Given the description of an element on the screen output the (x, y) to click on. 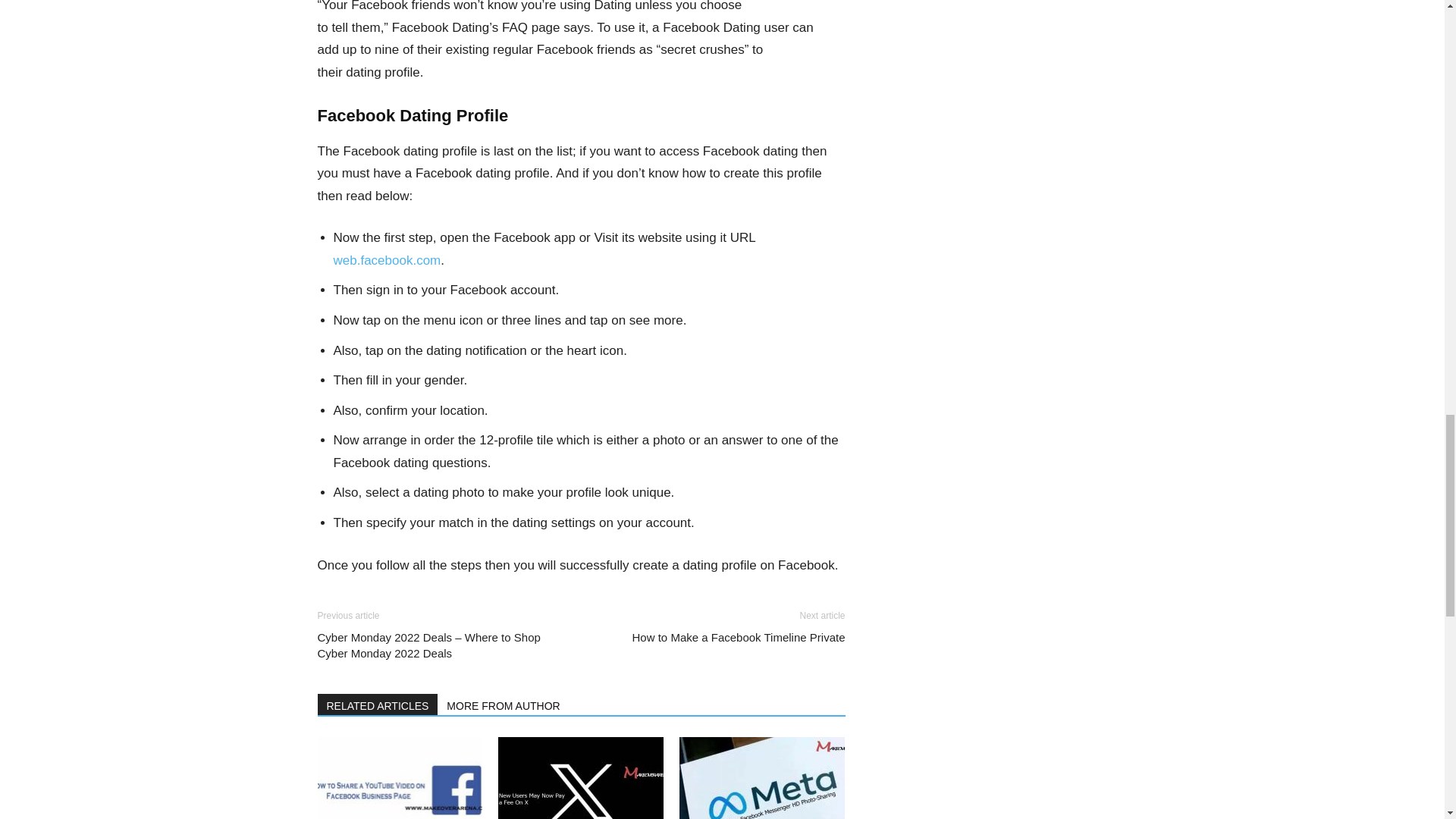
How to Share a YouTube Video on Facebook Business Page (399, 778)
